Given the description of an element on the screen output the (x, y) to click on. 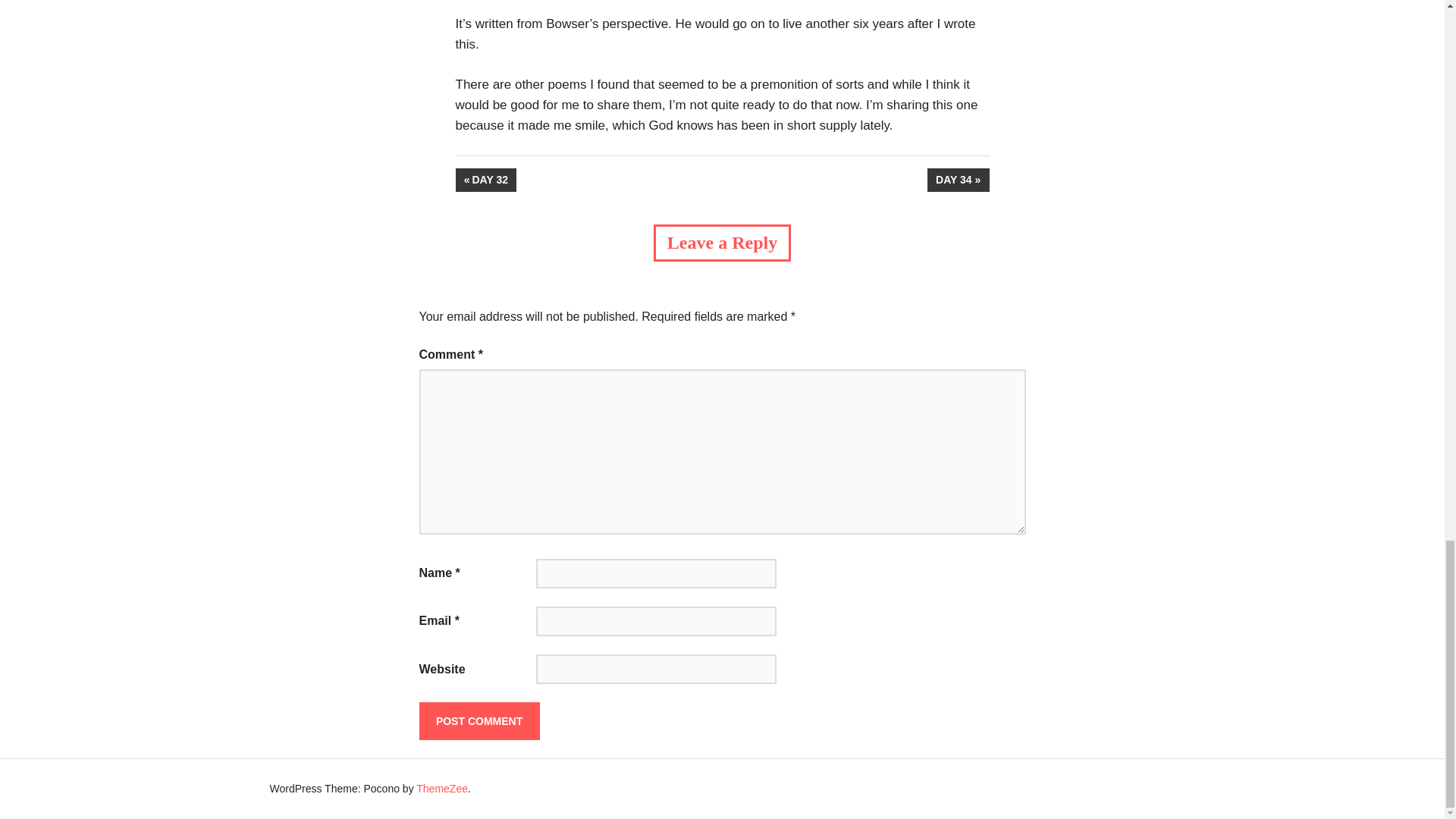
Post Comment (958, 179)
ThemeZee (478, 720)
Post Comment (485, 179)
